Given the description of an element on the screen output the (x, y) to click on. 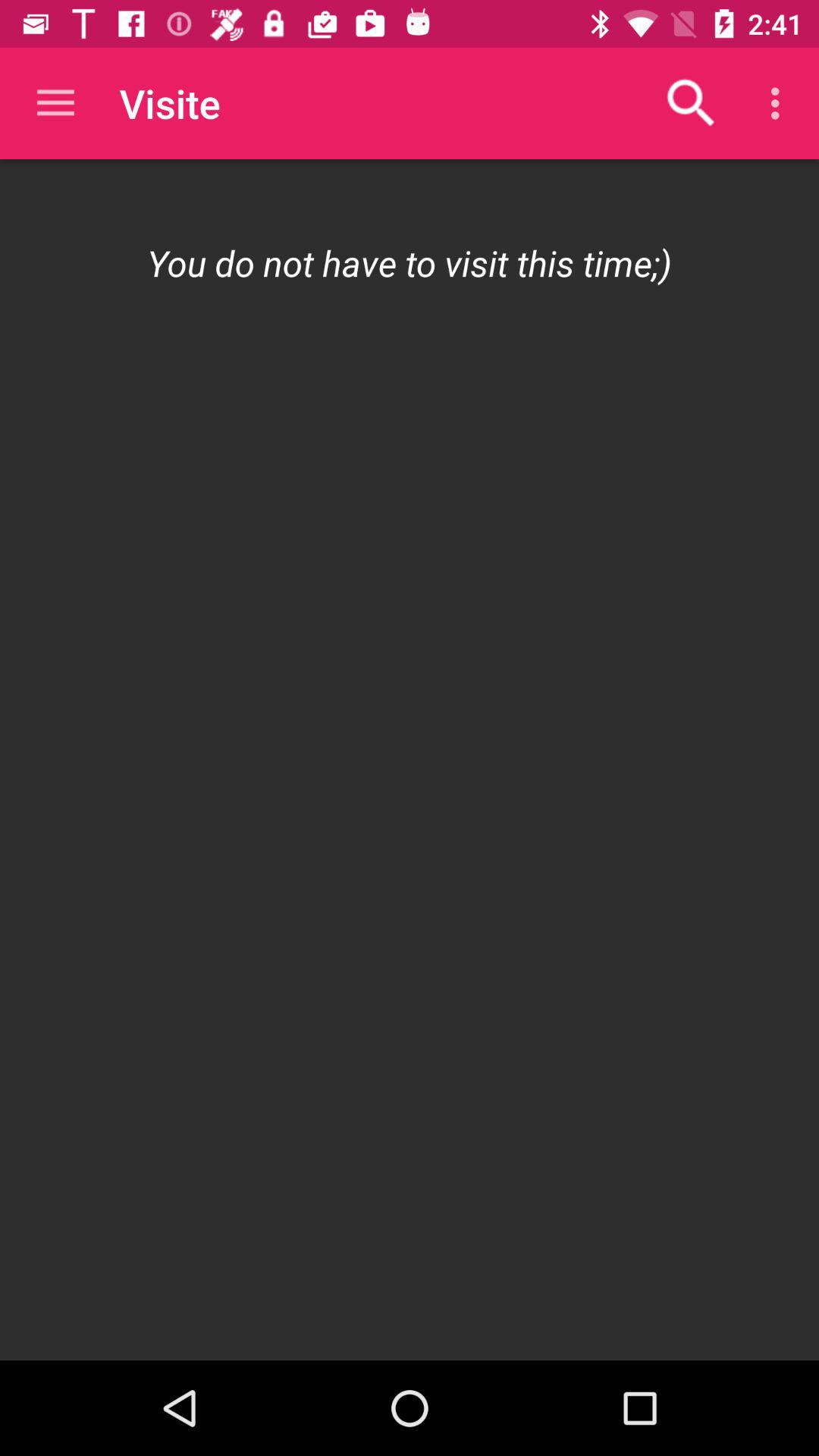
turn on the item above the you do not item (779, 103)
